Given the description of an element on the screen output the (x, y) to click on. 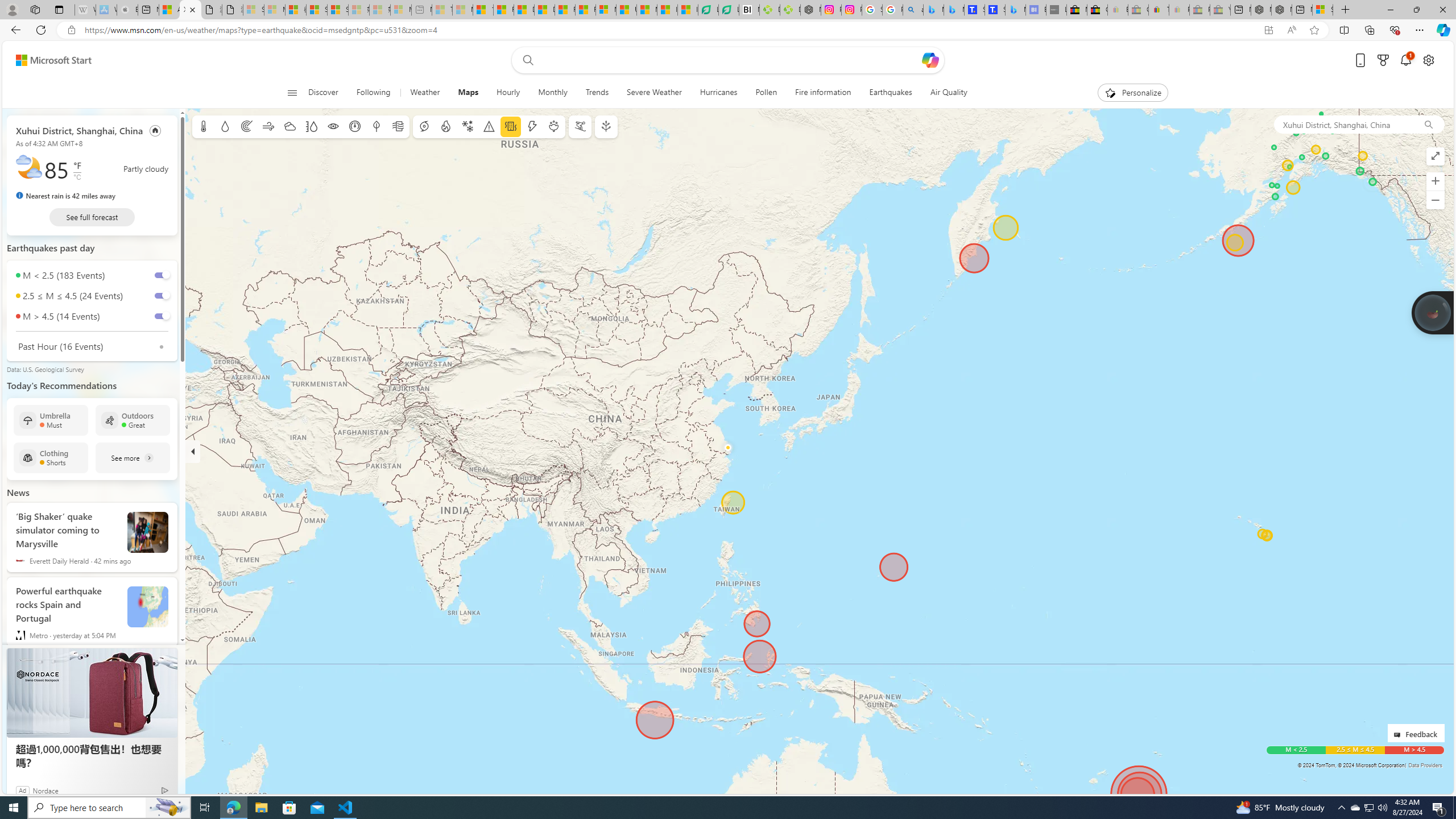
Class: button-glyph (292, 92)
alabama high school quarterback dies - Search (913, 9)
Nvidia va a poner a prueba la paciencia de los inversores (748, 9)
Precipitation (225, 126)
Air Quality (948, 92)
Join us in planting real trees to help our planet! (1431, 311)
